Given the description of an element on the screen output the (x, y) to click on. 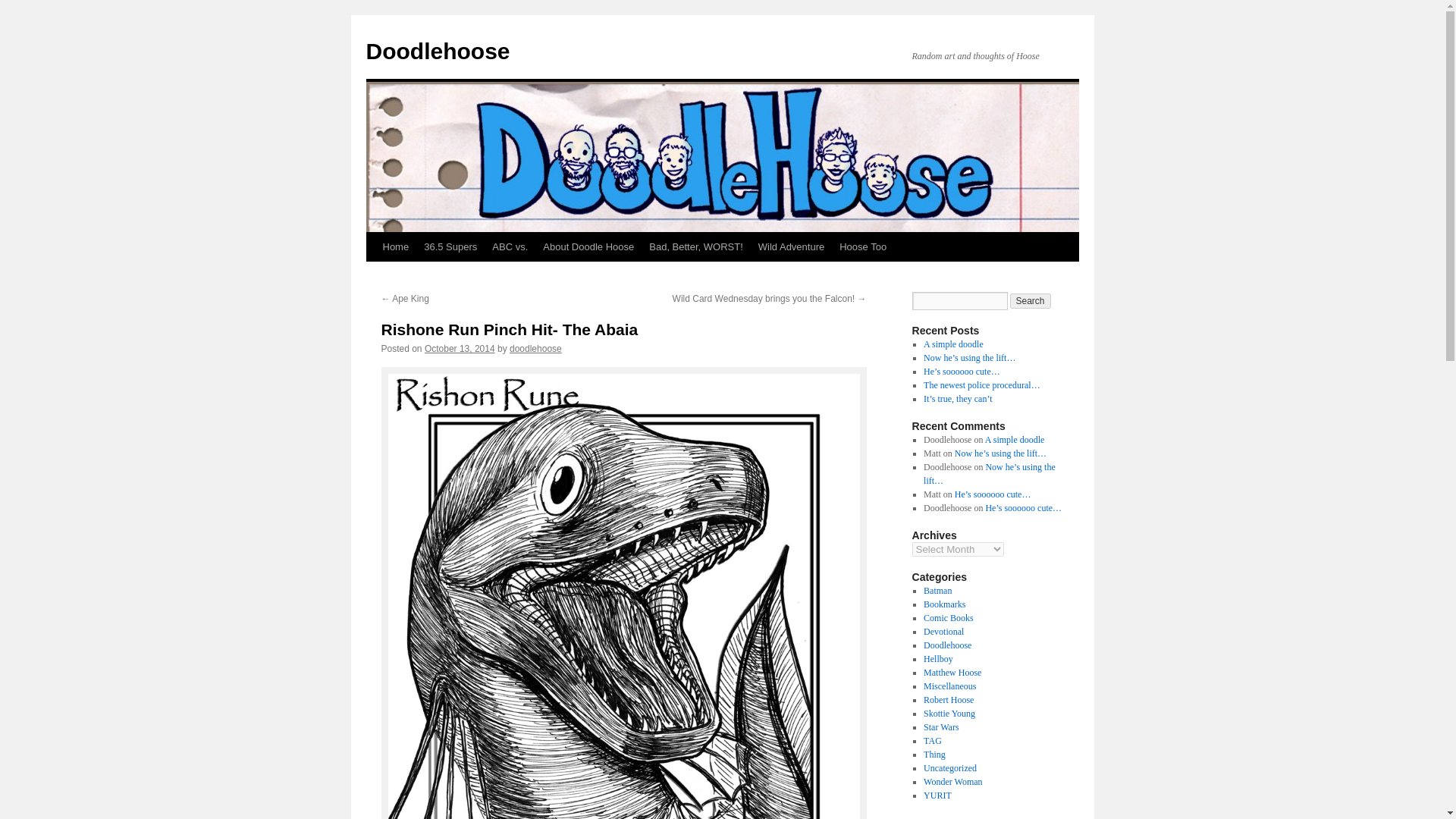
October 13, 2014 (460, 348)
A simple doodle (953, 344)
ABC vs. (509, 246)
About Doodle Hoose (588, 246)
View all posts by doodlehoose (535, 348)
doodlehoose (535, 348)
Bad, Better, WORST! (696, 246)
Bookmarks (944, 603)
Doodlehoose (437, 50)
5:33 pm (460, 348)
